Given the description of an element on the screen output the (x, y) to click on. 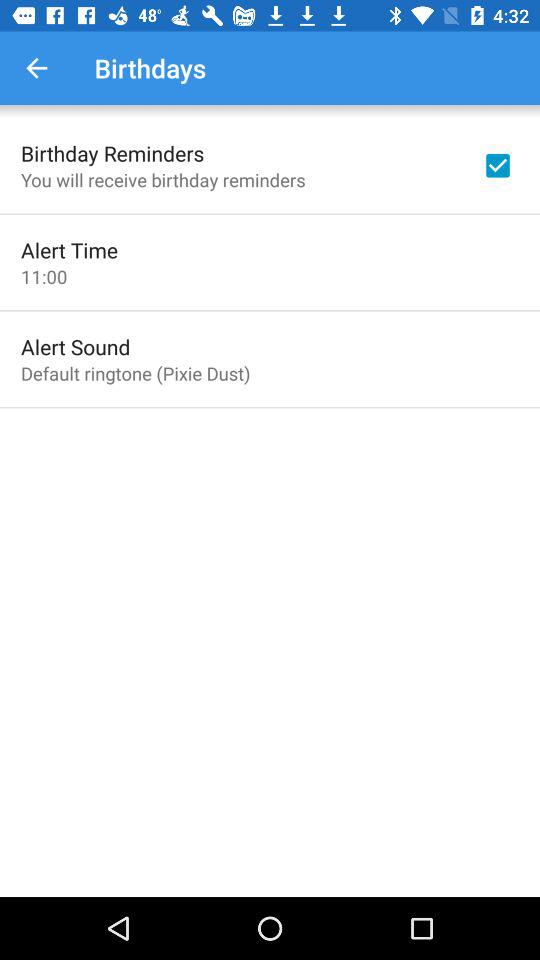
press the item above the alert sound icon (44, 276)
